Given the description of an element on the screen output the (x, y) to click on. 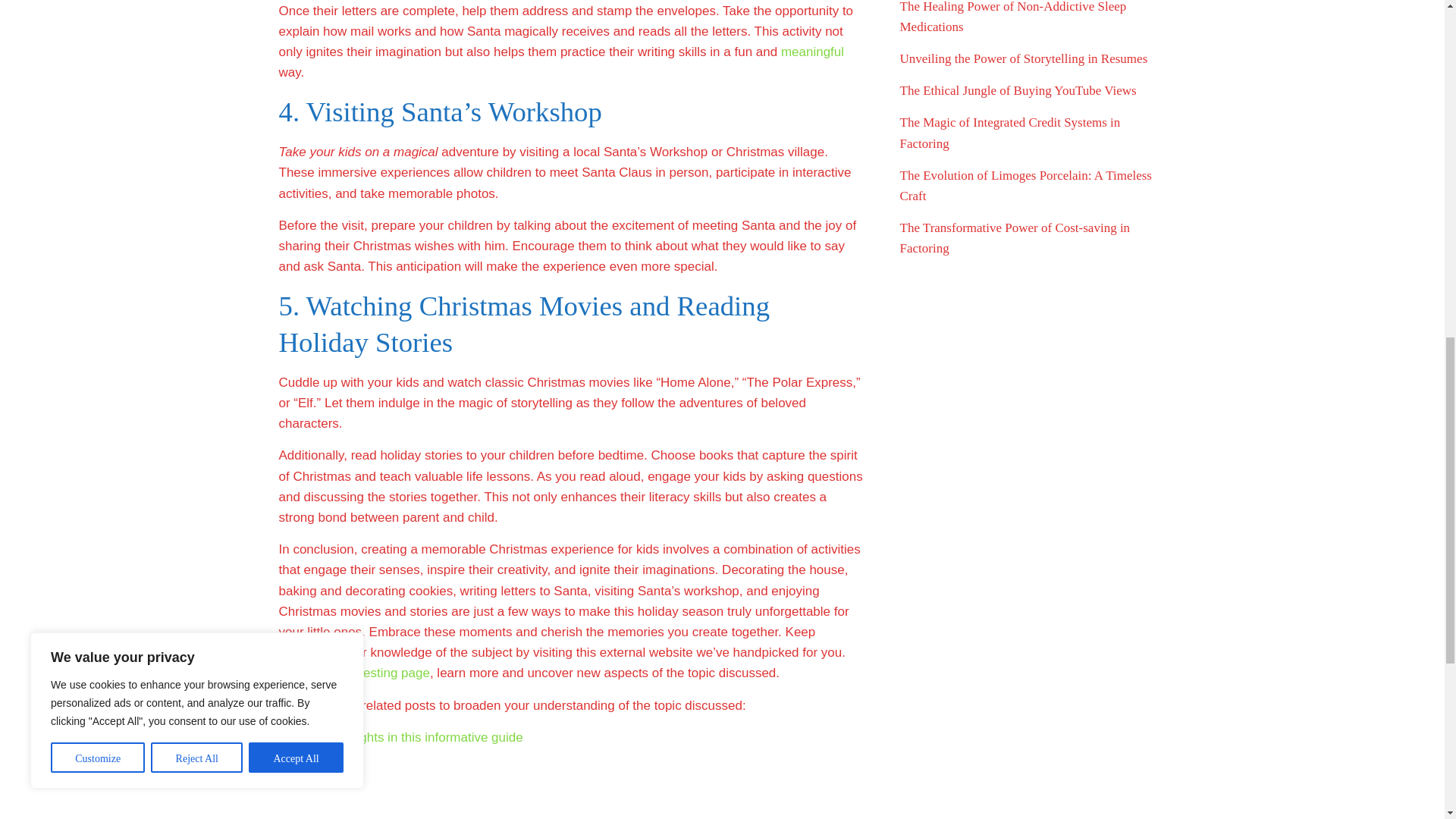
Analyze this (314, 769)
Verify this interesting page (354, 672)
Unveiling the Power of Storytelling in Resumes (1023, 58)
Find more insights in this informative guide (400, 737)
meaningful (812, 51)
The Healing Power of Non-Addictive Sleep Medications (1012, 17)
